Given the description of an element on the screen output the (x, y) to click on. 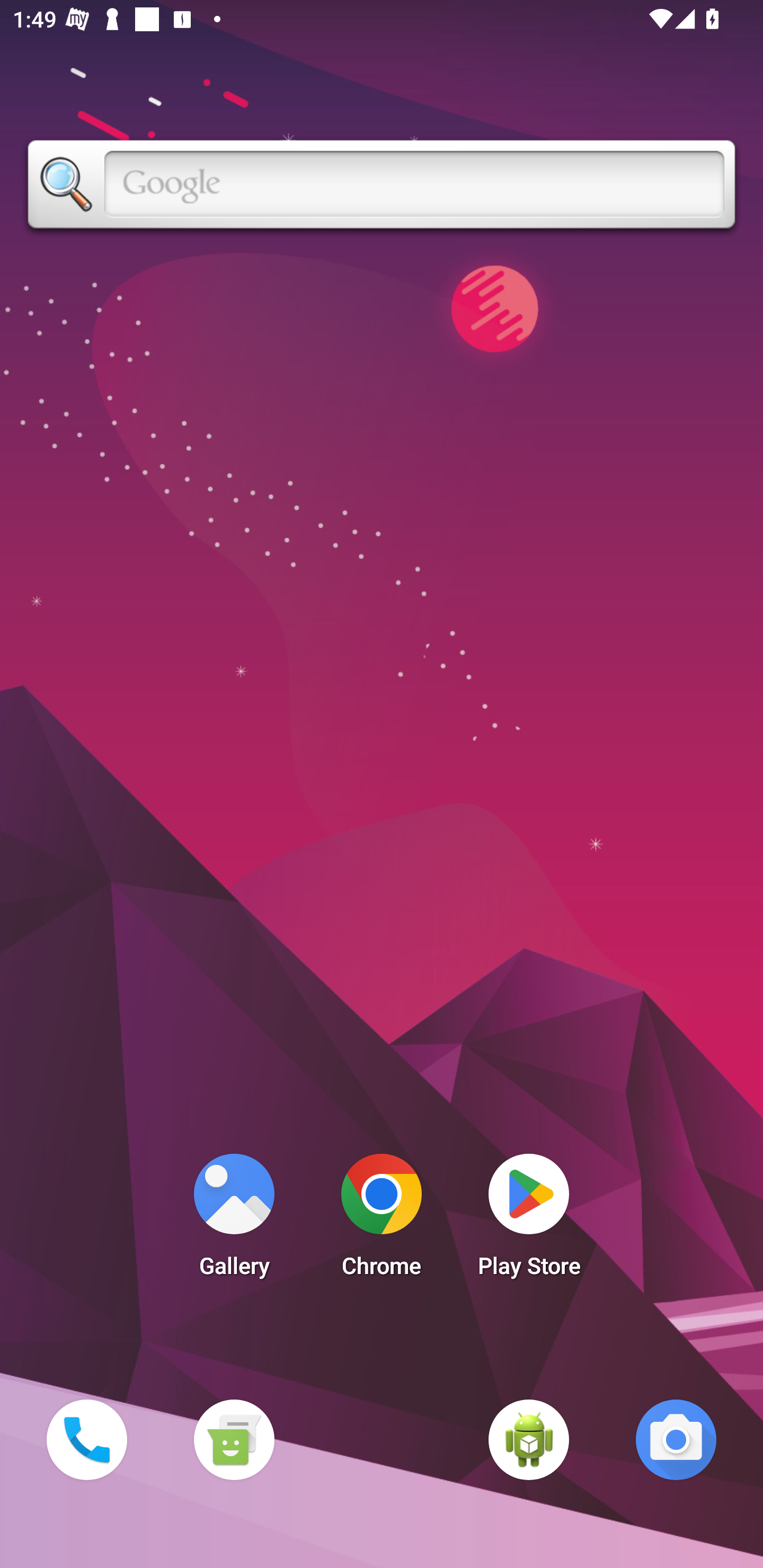
Gallery (233, 1220)
Chrome (381, 1220)
Play Store (528, 1220)
Phone (86, 1439)
Messaging (233, 1439)
WebView Browser Tester (528, 1439)
Camera (676, 1439)
